Given the description of an element on the screen output the (x, y) to click on. 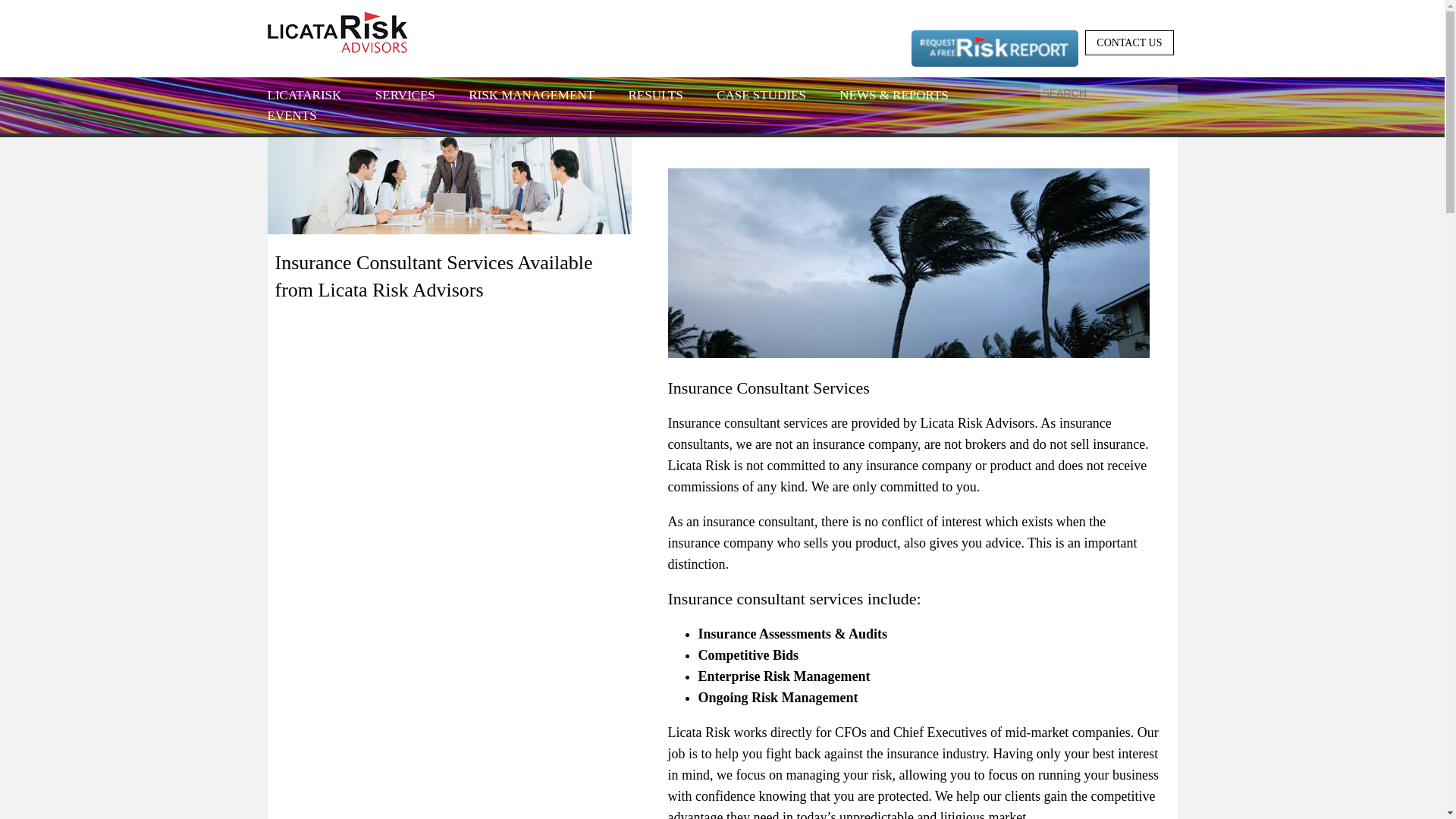
Hurricane (907, 262)
LICATARISK (303, 112)
RISK MANAGEMENT (531, 112)
CASE STUDIES (761, 112)
CONTACT US (1129, 42)
